Given the description of an element on the screen output the (x, y) to click on. 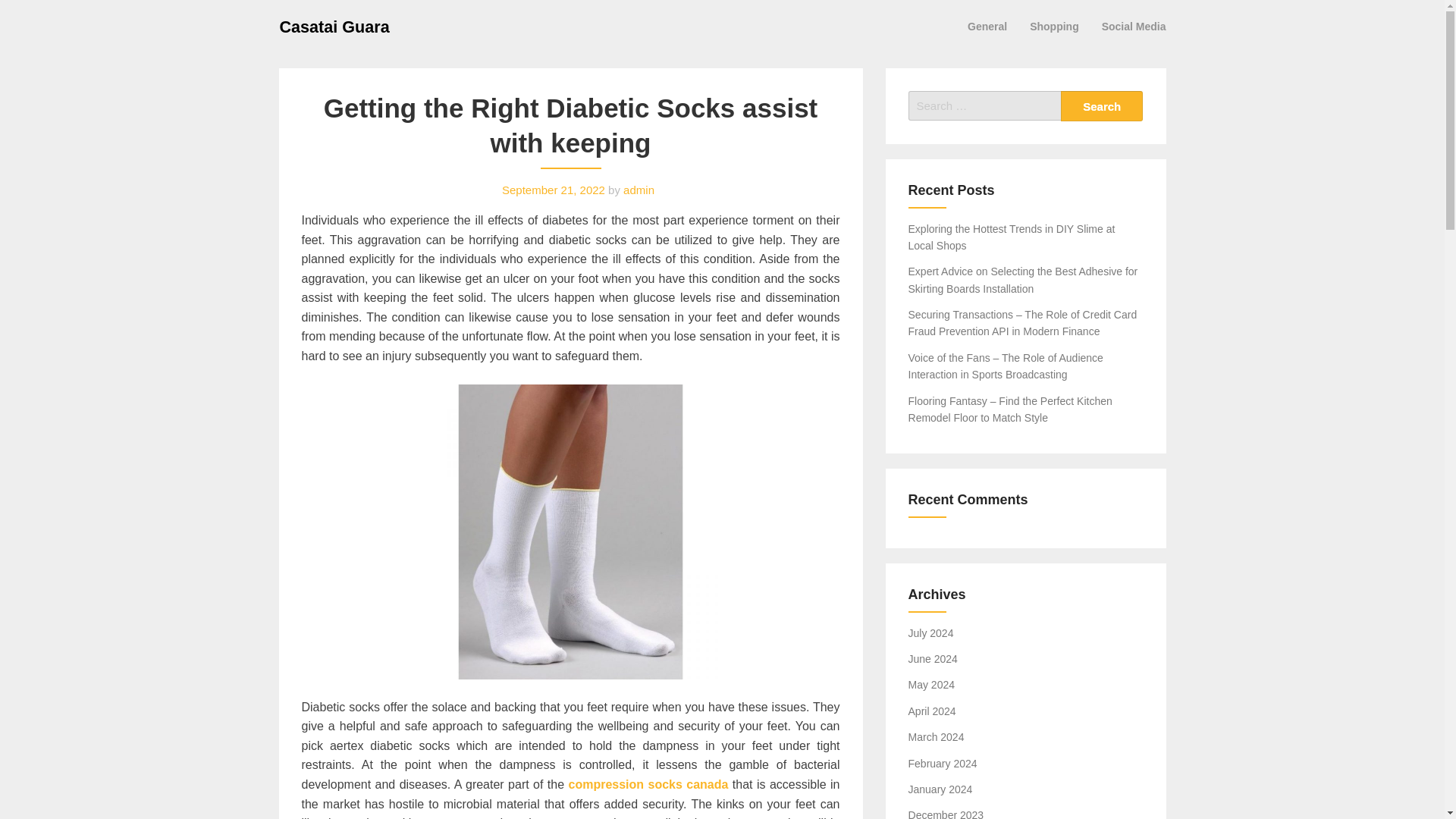
December 2023 (946, 814)
Casatai Guara (333, 26)
Social Media (1133, 26)
Search (1101, 105)
Shopping (1053, 26)
April 2024 (932, 711)
May 2024 (931, 684)
January 2024 (940, 788)
General (986, 26)
Search (1101, 105)
